Given the description of an element on the screen output the (x, y) to click on. 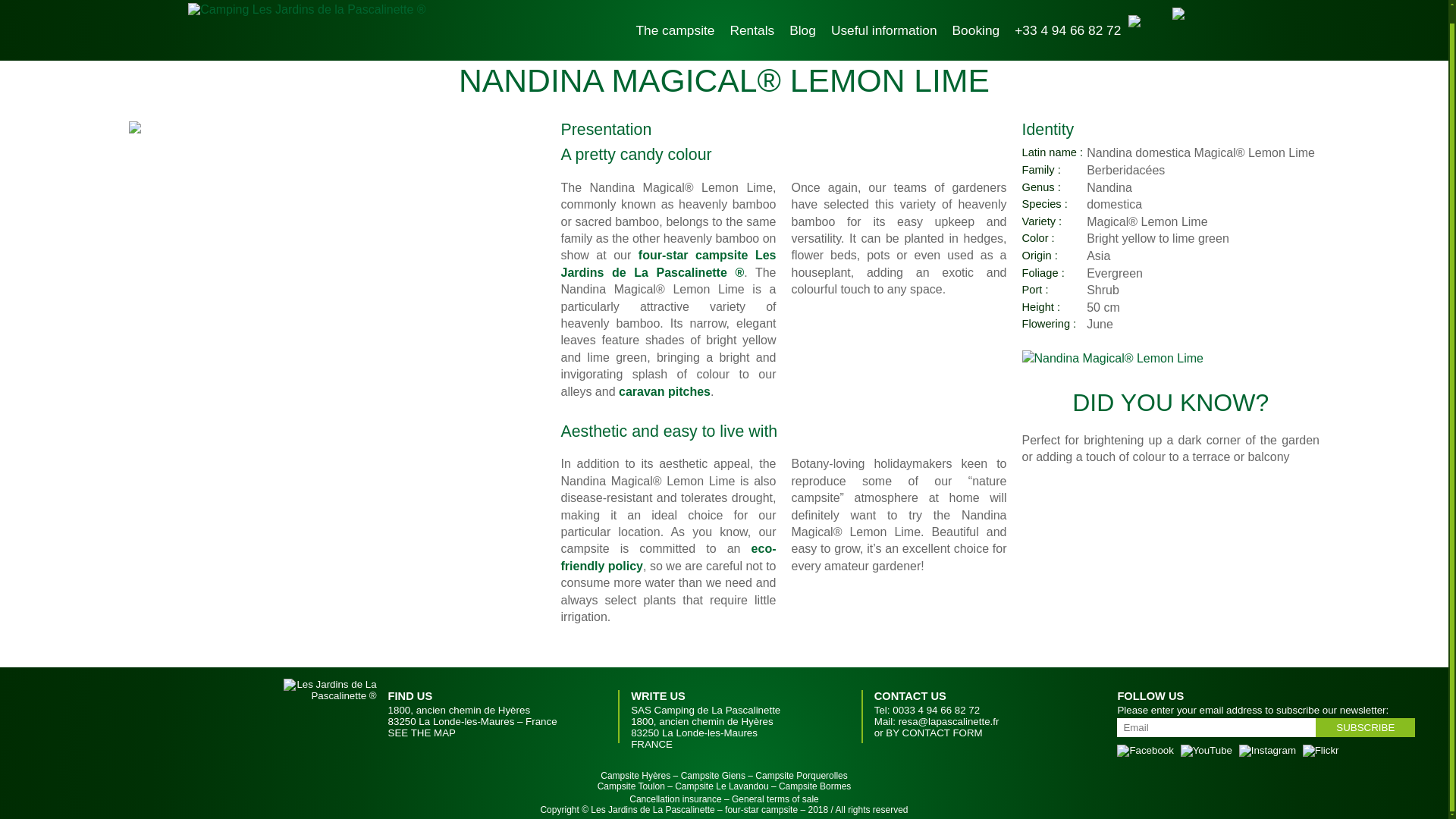
The campsite (674, 14)
Rentals (751, 14)
Useful information (884, 14)
Blog (802, 14)
